Given the description of an element on the screen output the (x, y) to click on. 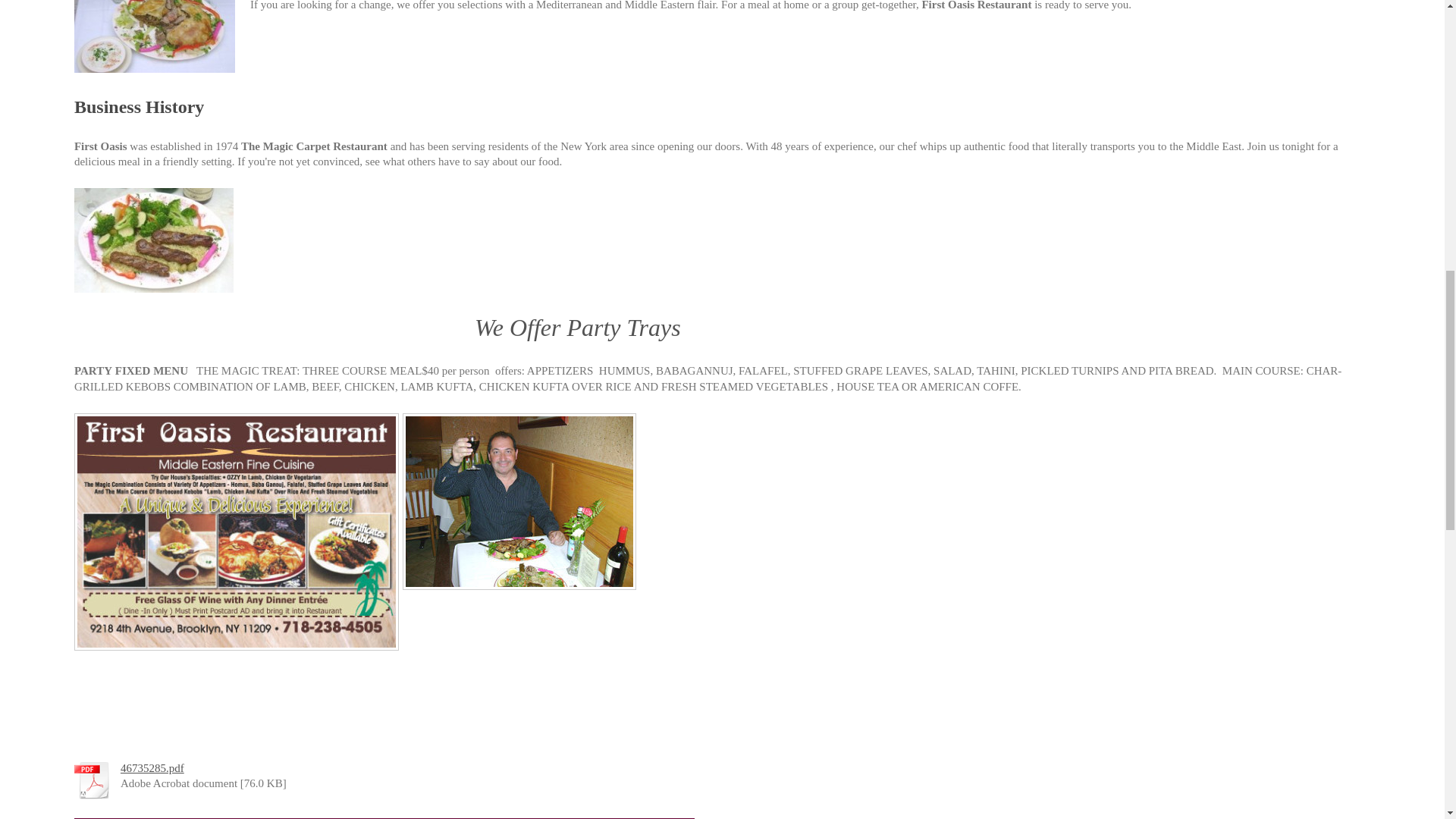
46735285.pdf (152, 767)
